Given the description of an element on the screen output the (x, y) to click on. 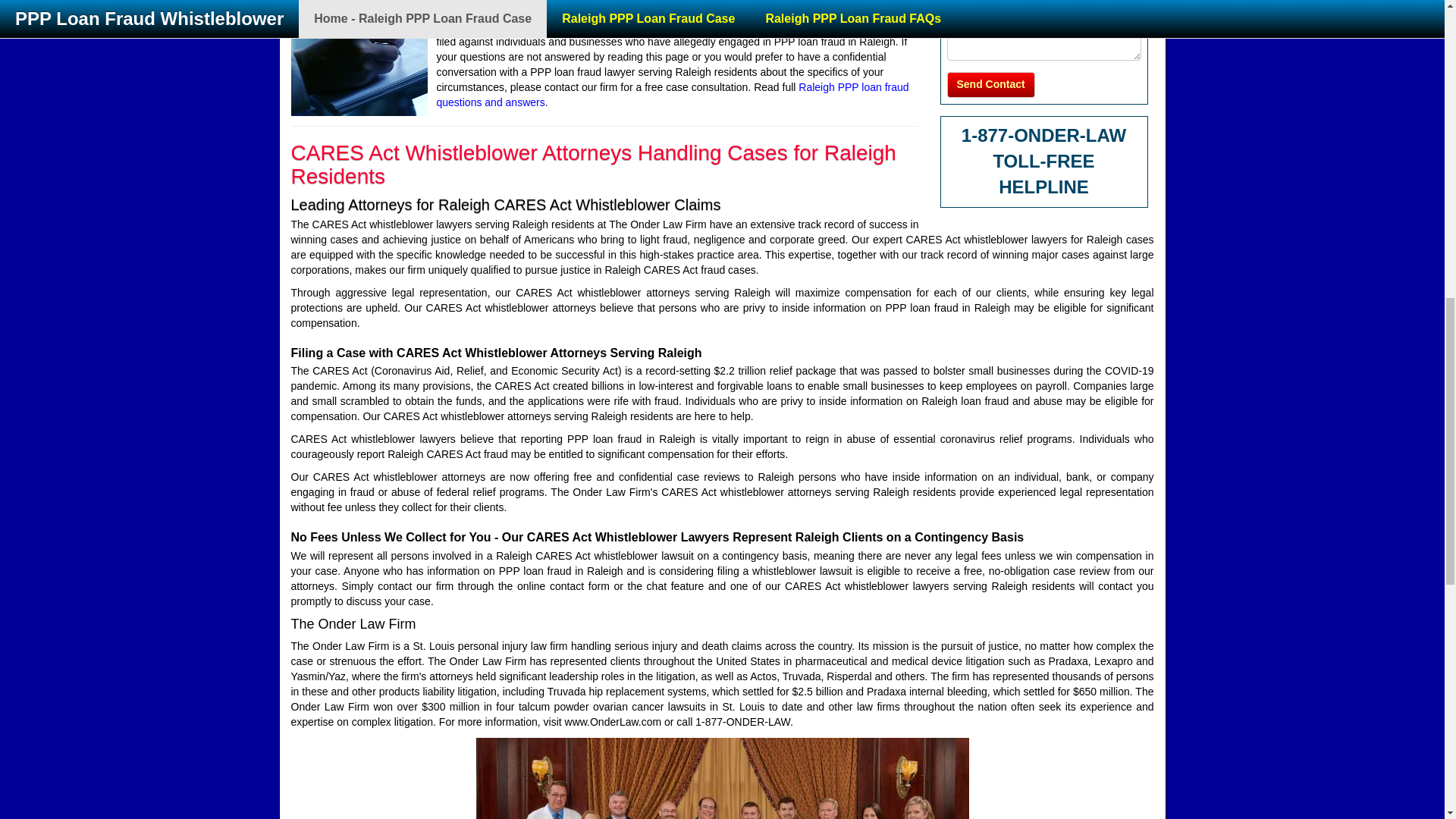
Raleigh PPP loan fraud questions and answers (672, 94)
1-877-ONDER-LAW (1042, 135)
Send Contact (989, 84)
Raleigh PPP Loan Fraud Case Answers (672, 94)
